Given the description of an element on the screen output the (x, y) to click on. 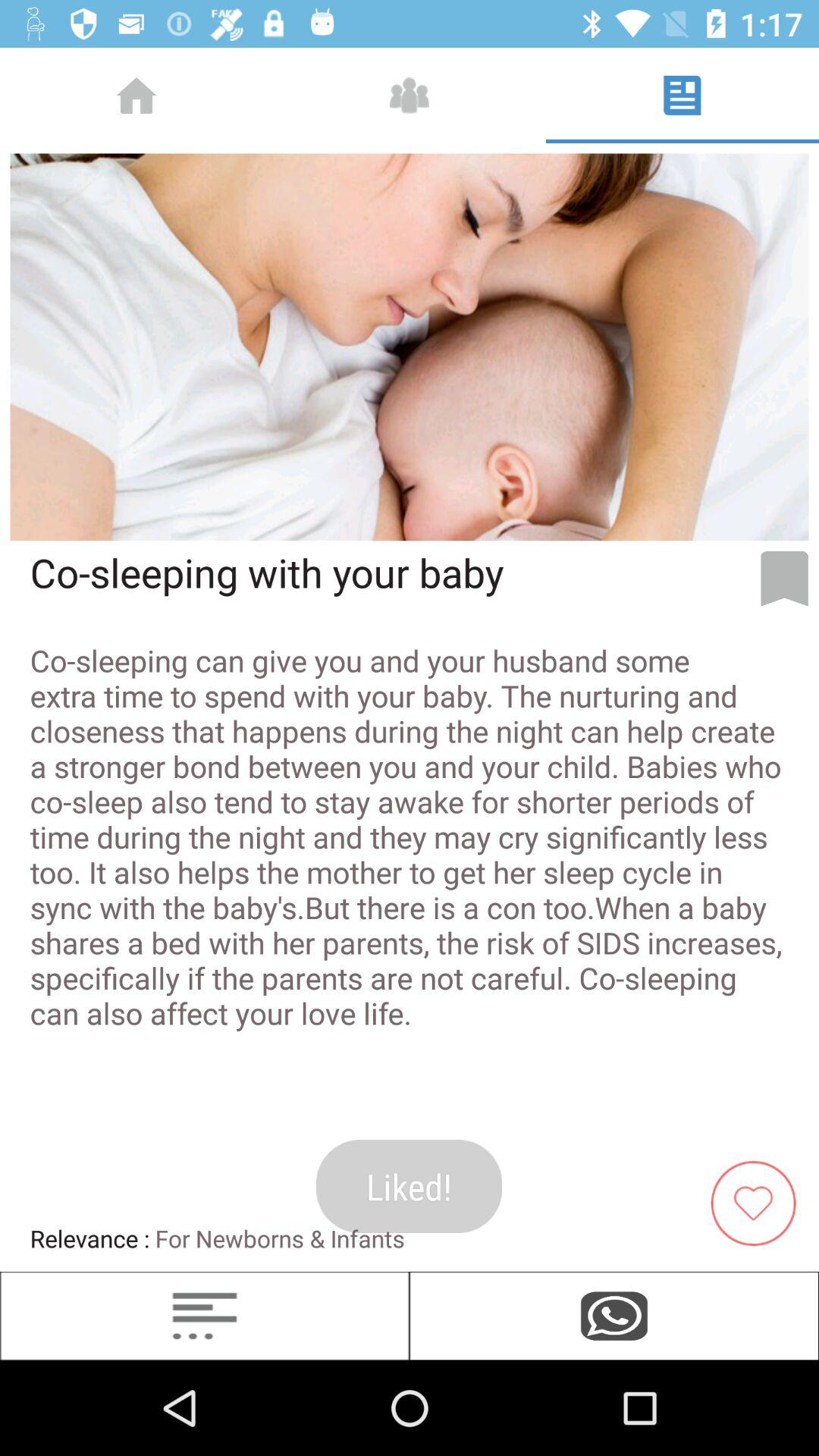
launch the item above co sleeping can item (784, 578)
